Given the description of an element on the screen output the (x, y) to click on. 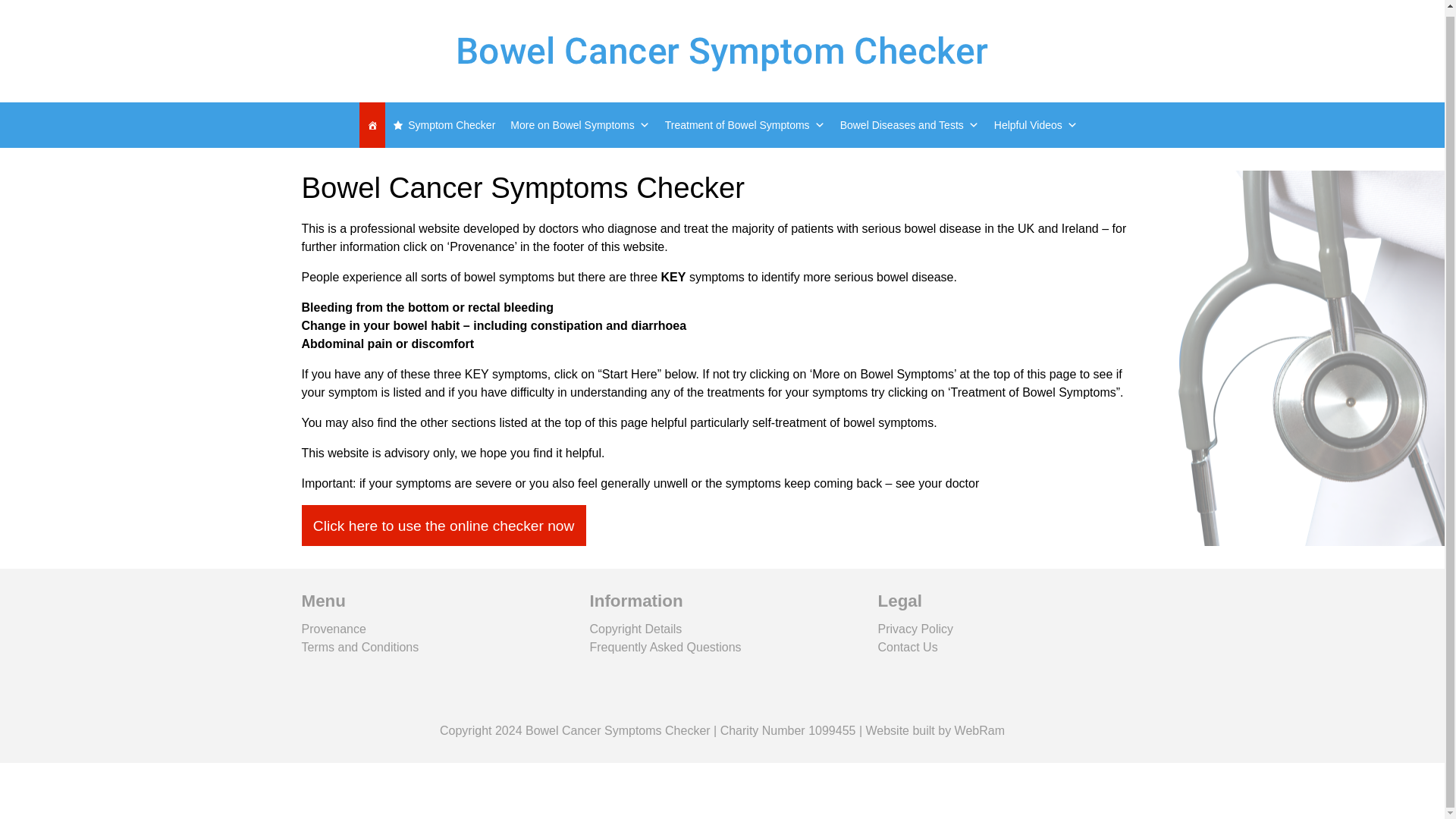
More on Bowel Symptoms (579, 125)
Symptom Checker (443, 125)
Treatment of Bowel Symptoms (745, 125)
